Given the description of an element on the screen output the (x, y) to click on. 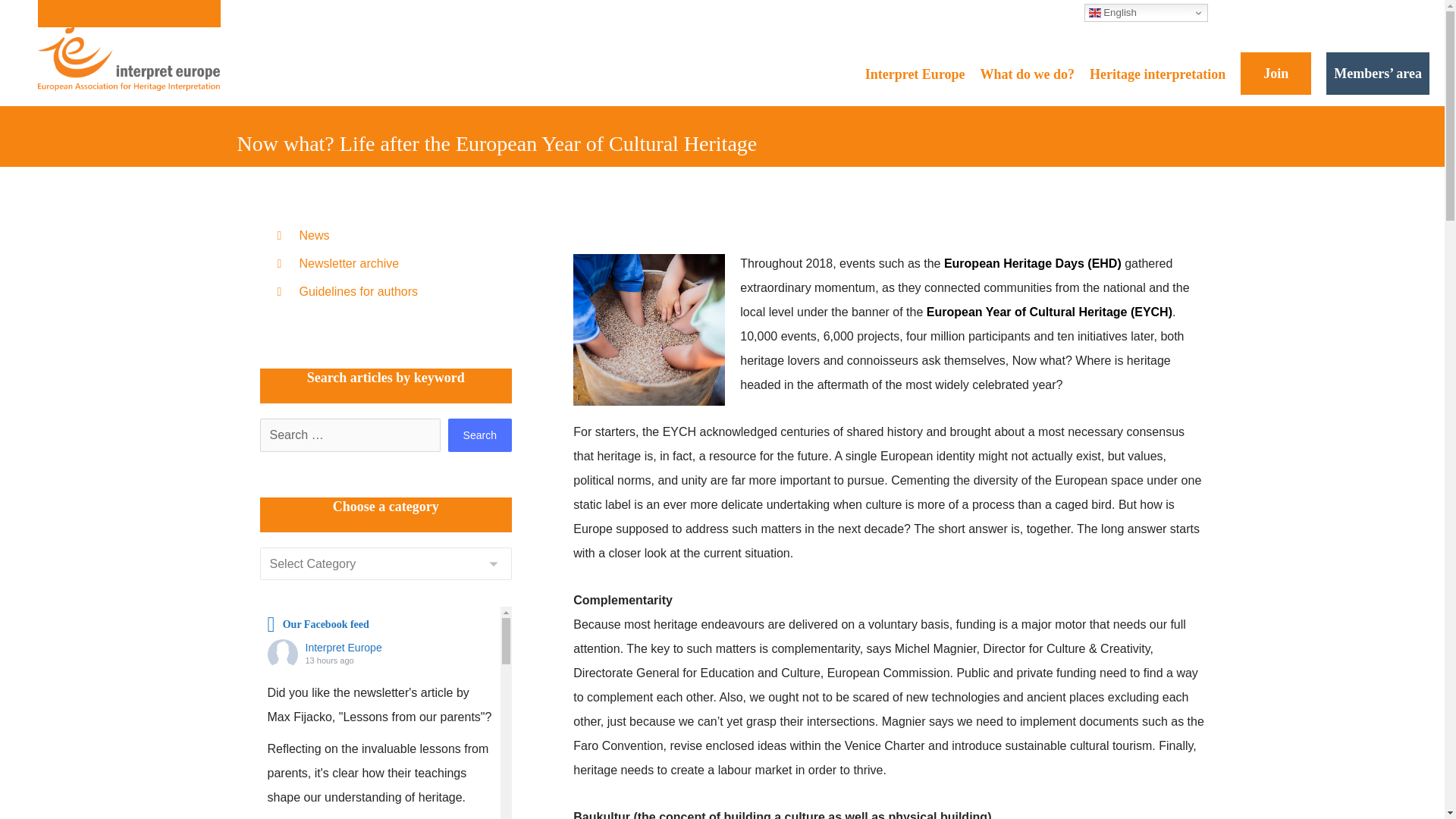
English (1146, 13)
What do we do? (1027, 74)
Interpret Europe (914, 74)
